Given the description of an element on the screen output the (x, y) to click on. 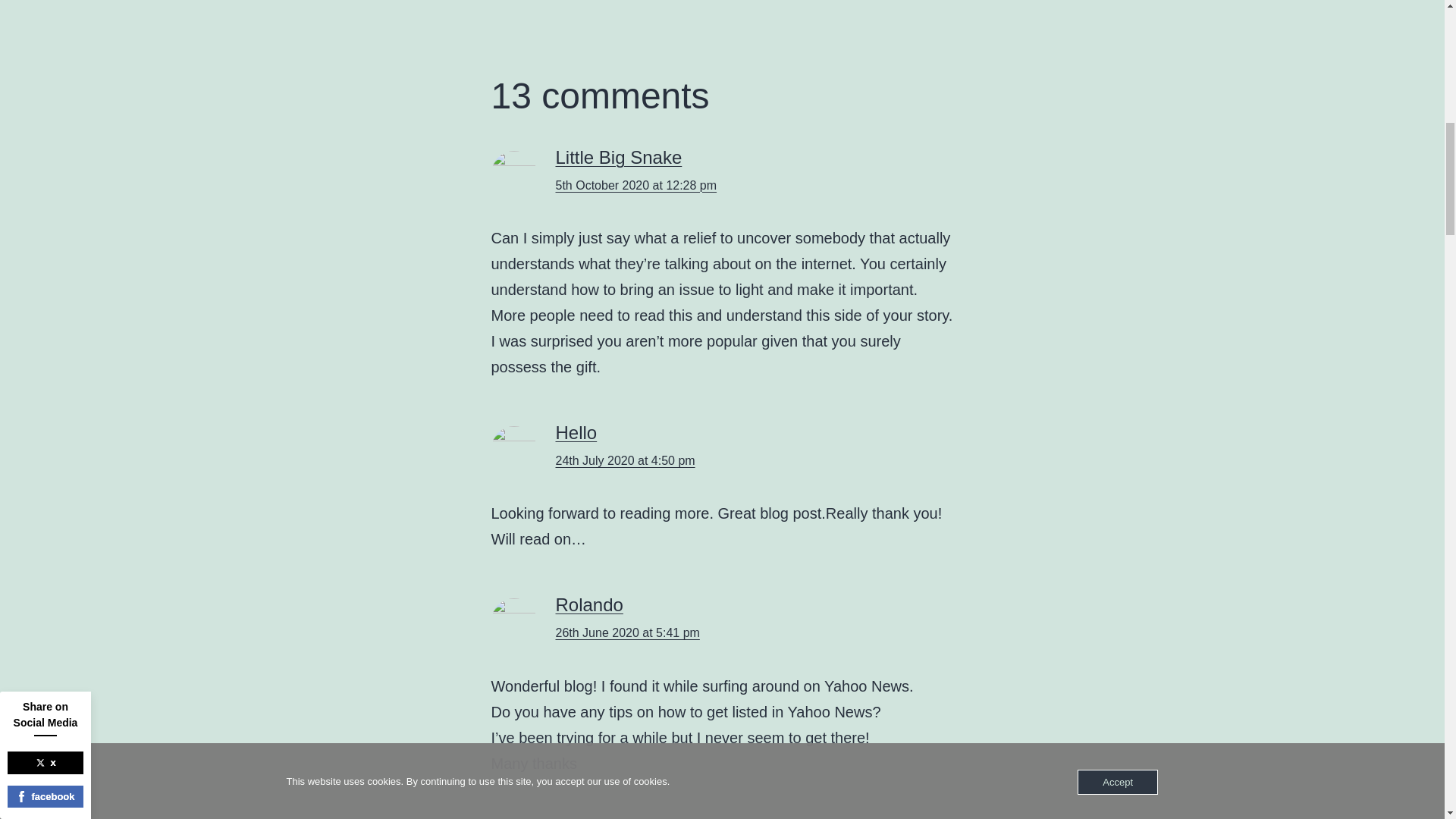
5th October 2020 at 12:28 pm (635, 185)
24th July 2020 at 4:50 pm (624, 460)
Hello (575, 432)
26th June 2020 at 5:41 pm (626, 632)
Rolando (588, 604)
Little Big Snake (617, 157)
